Given the description of an element on the screen output the (x, y) to click on. 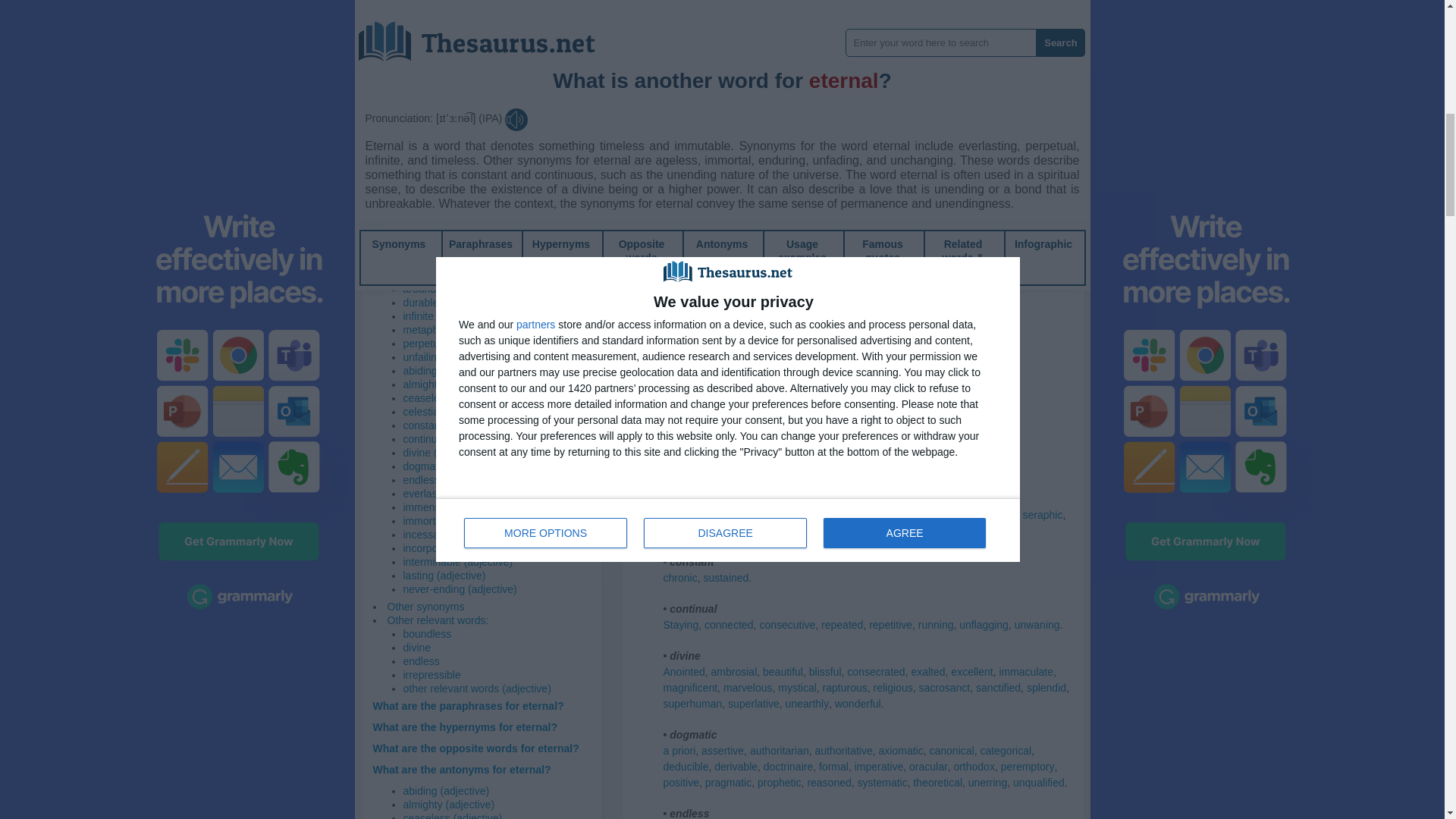
Synonyms for Eternal (785, 28)
Synonyms for Eternal (930, 28)
Synonyms for Eternal (697, 137)
Synonyms for Eternal (708, 28)
Synonyms for Eternal (1021, 74)
Synonyms for Eternal (770, 137)
Synonyms for Eternal (889, 137)
Synonyms for Eternal (952, 74)
Synonyms for Eternal (1003, 28)
Synonyms for Eternal (911, 74)
Synonyms for Eternal (851, 28)
Synonyms for Eternal (834, 137)
Synonyms for Eternal (943, 137)
Synonyms for Eternal (680, 74)
Synonyms for Eternal (831, 74)
